Given the description of an element on the screen output the (x, y) to click on. 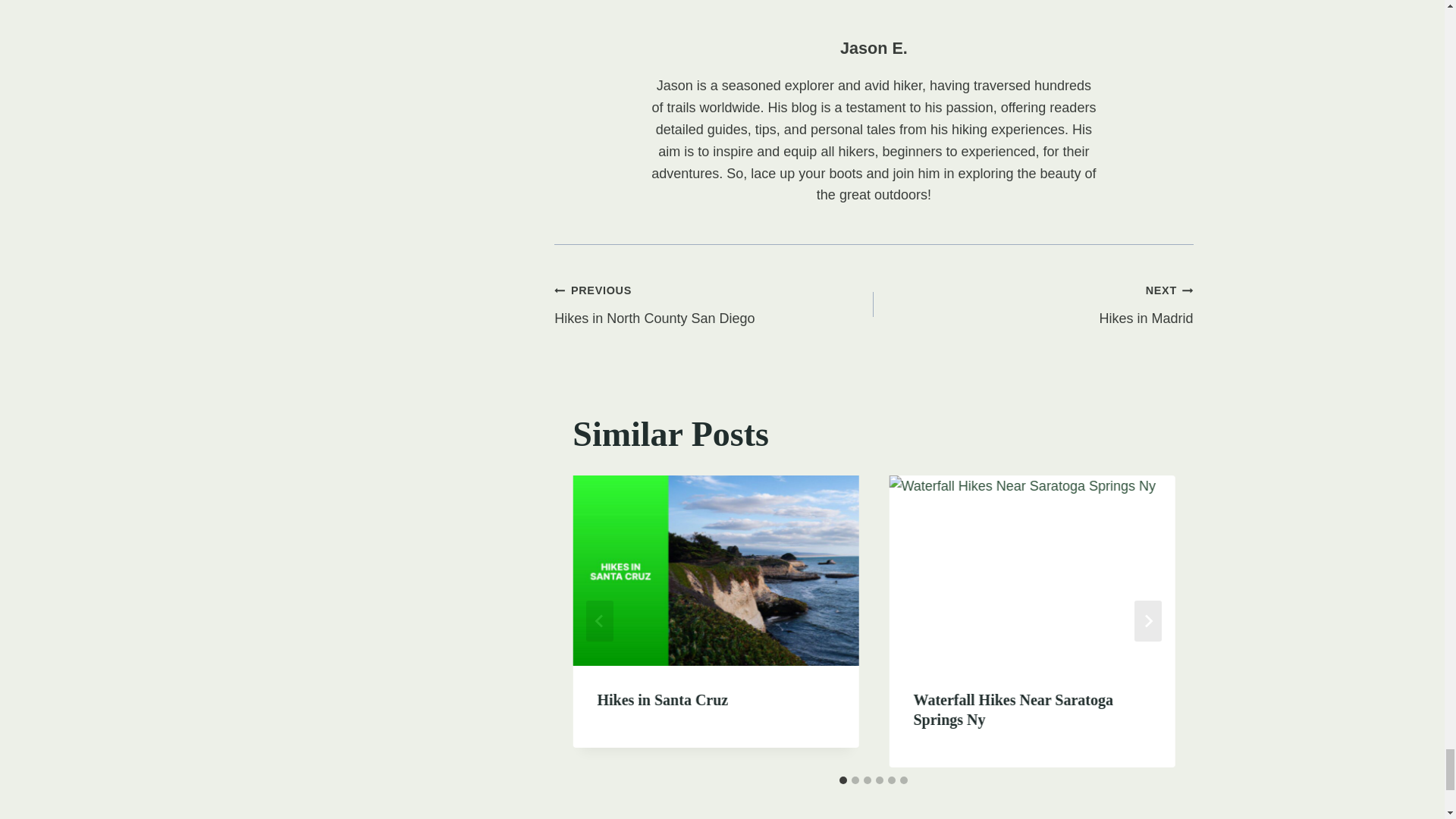
Jason E. (873, 47)
Posts by Jason E. (873, 47)
Waterfall Hikes Near Saratoga Springs Ny 3 (1032, 304)
Hikes in Santa Cruz 2 (713, 304)
